Given the description of an element on the screen output the (x, y) to click on. 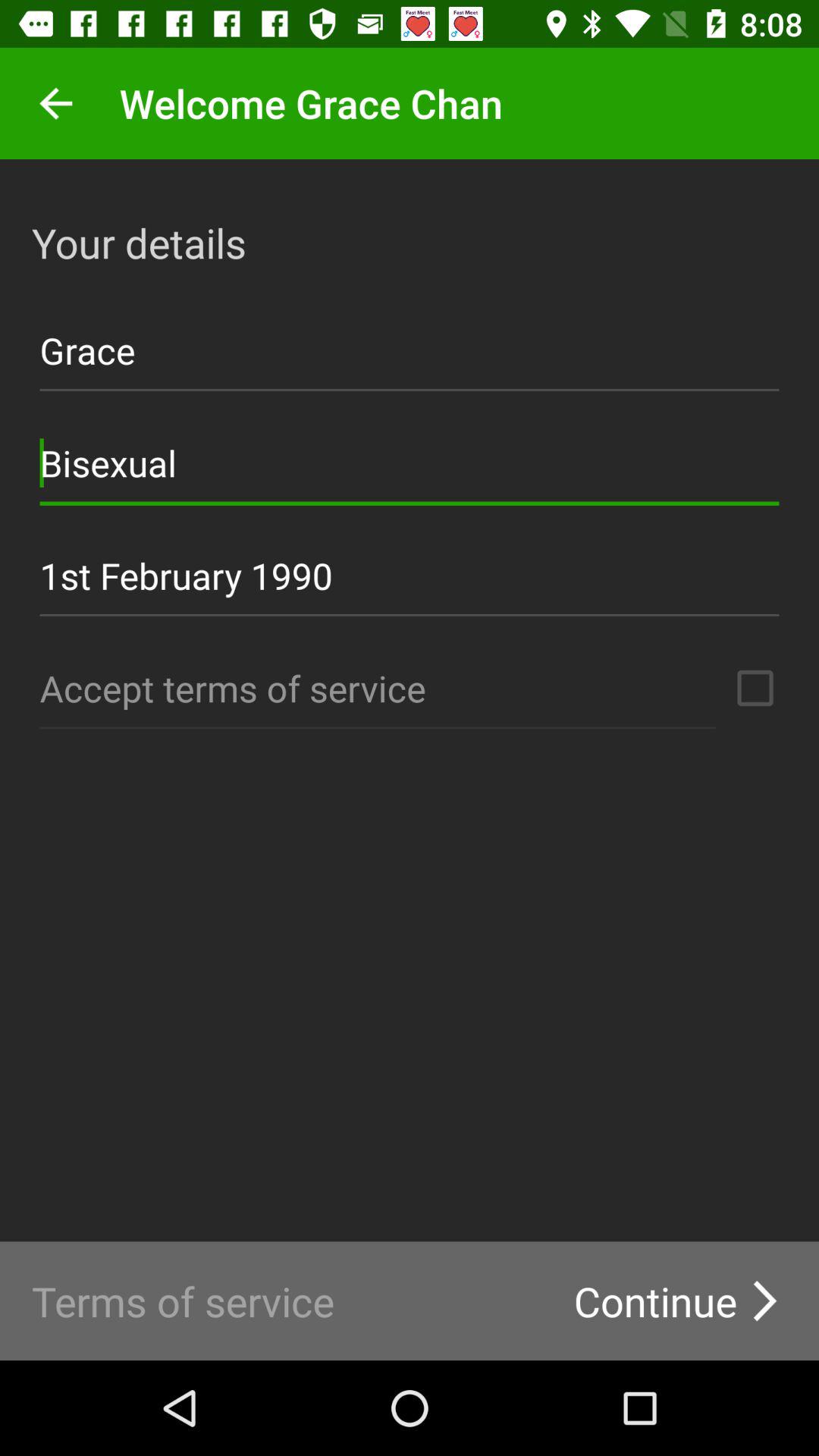
check mark (755, 688)
